Given the description of an element on the screen output the (x, y) to click on. 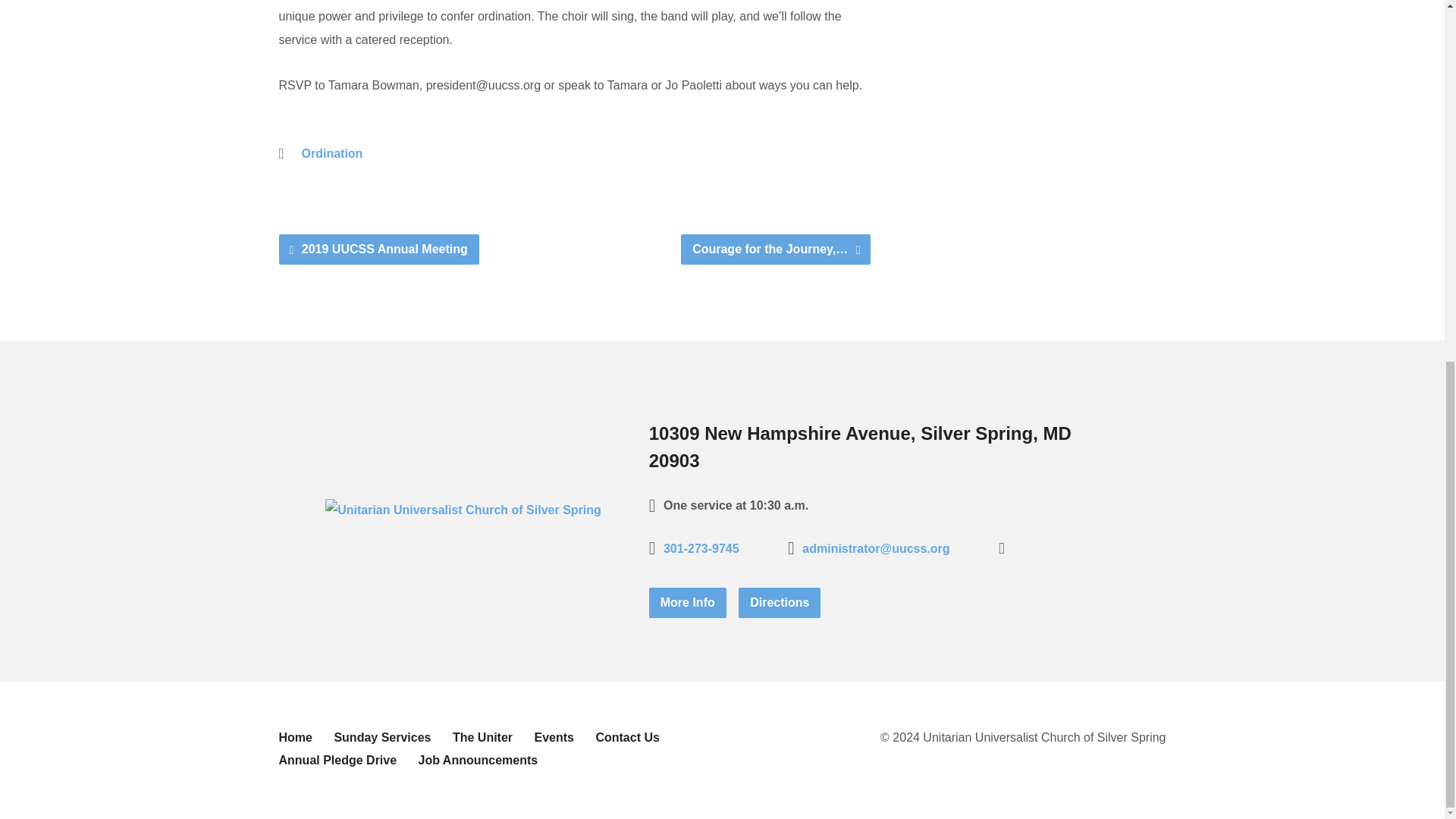
Unitarian Universalist Church of Silver Spring (462, 509)
